Given the description of an element on the screen output the (x, y) to click on. 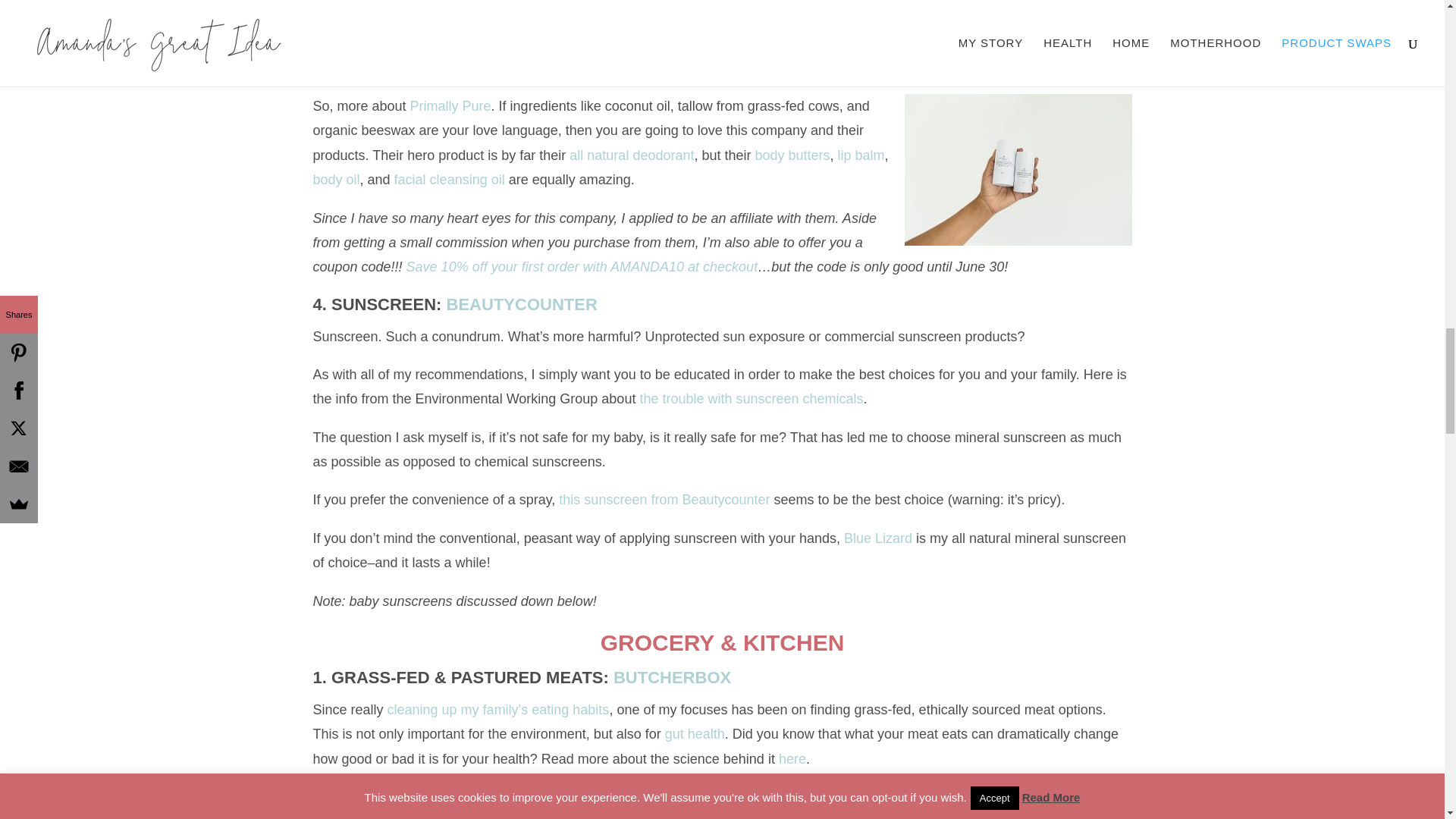
lip balm (861, 155)
body oil (336, 179)
check out their post here. (849, 68)
all natural deodorant (631, 155)
body butters (792, 155)
Primally Pure (451, 105)
